Given the description of an element on the screen output the (x, y) to click on. 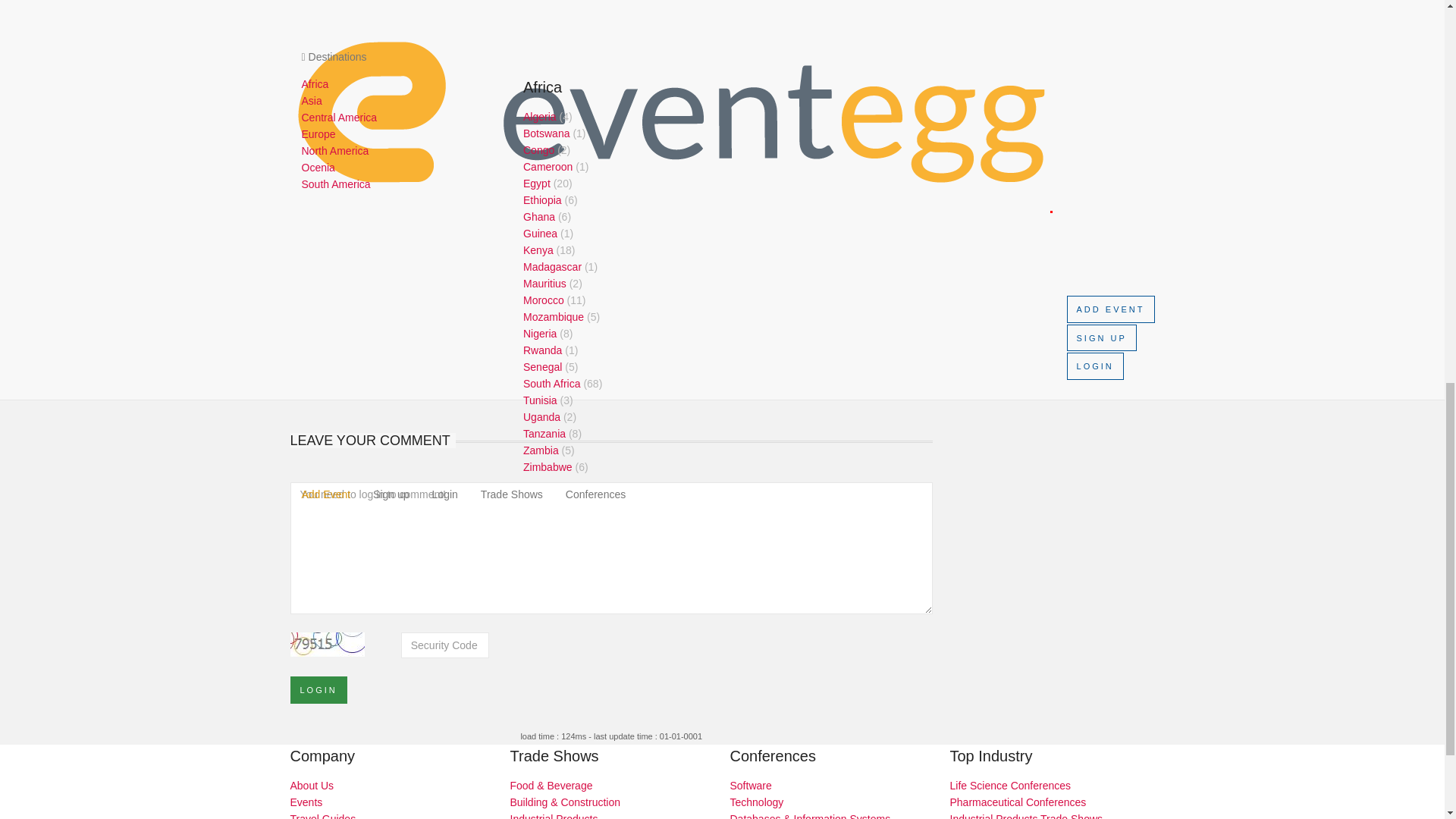
14-04-2024 (611, 309)
Hilton New Orleans Airport (611, 240)
10-04-2024 (611, 266)
